Given the description of an element on the screen output the (x, y) to click on. 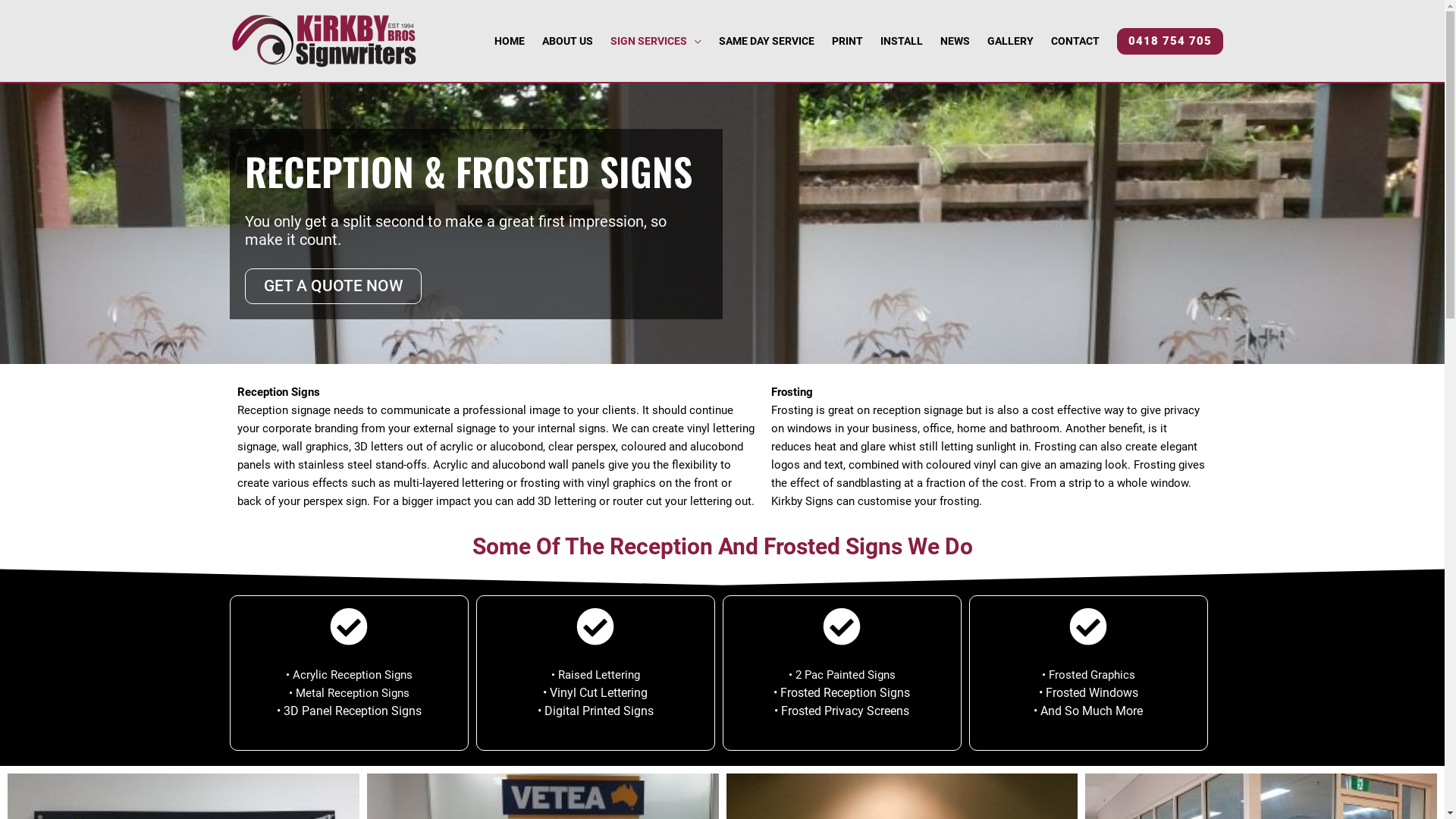
CONTACT Element type: text (1073, 40)
PRINT Element type: text (846, 40)
NEWS Element type: text (952, 40)
GALLERY Element type: text (1008, 40)
INSTALL Element type: text (900, 40)
0418 754 705 Element type: text (1169, 40)
SIGN SERVICES Element type: text (654, 40)
SAME DAY SERVICE Element type: text (764, 40)
HOME Element type: text (507, 40)
GET A QUOTE NOW Element type: text (332, 286)
ABOUT US Element type: text (566, 40)
